Given the description of an element on the screen output the (x, y) to click on. 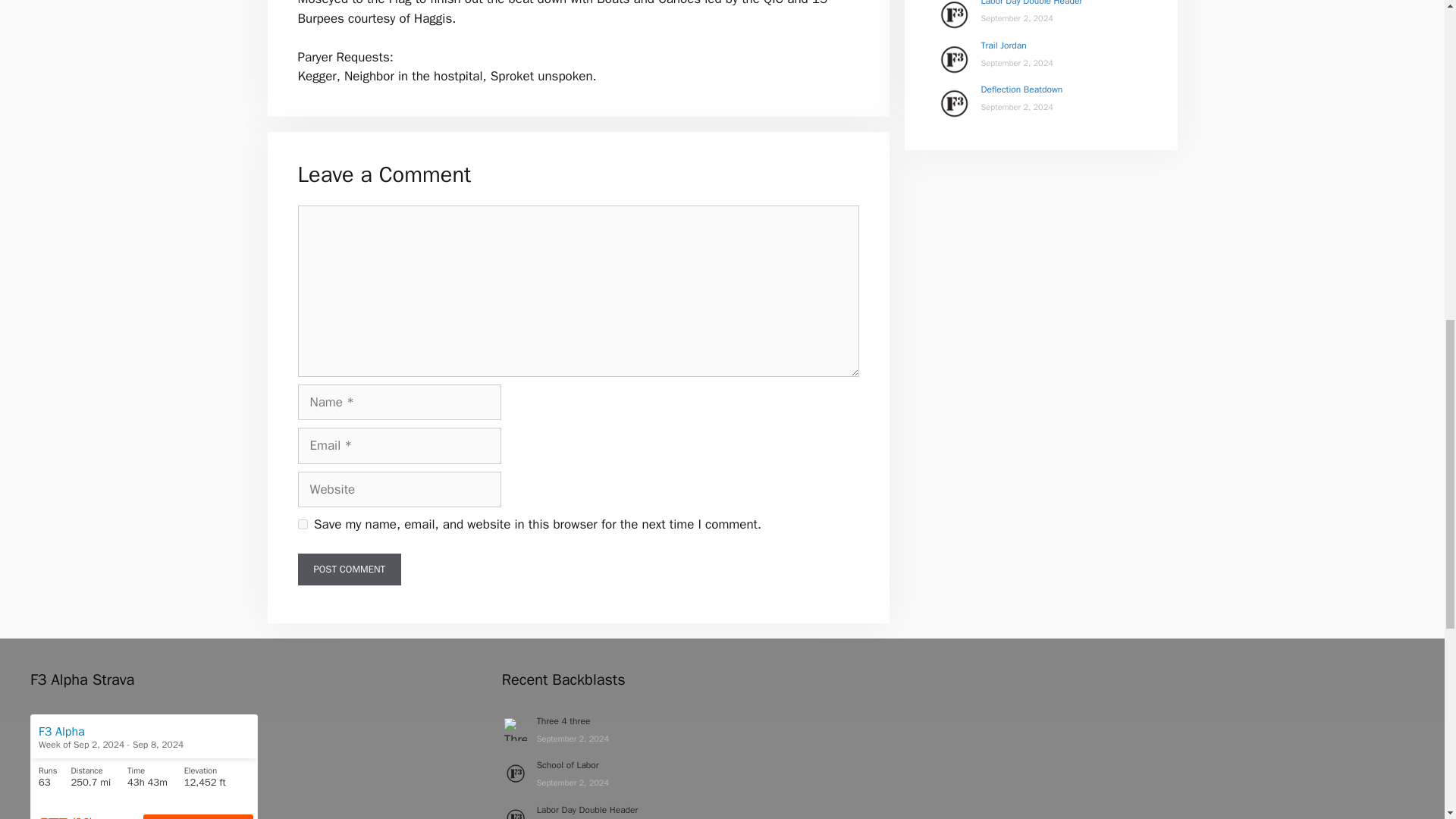
Post Comment (349, 569)
Post Comment (349, 569)
yes (302, 524)
